Given the description of an element on the screen output the (x, y) to click on. 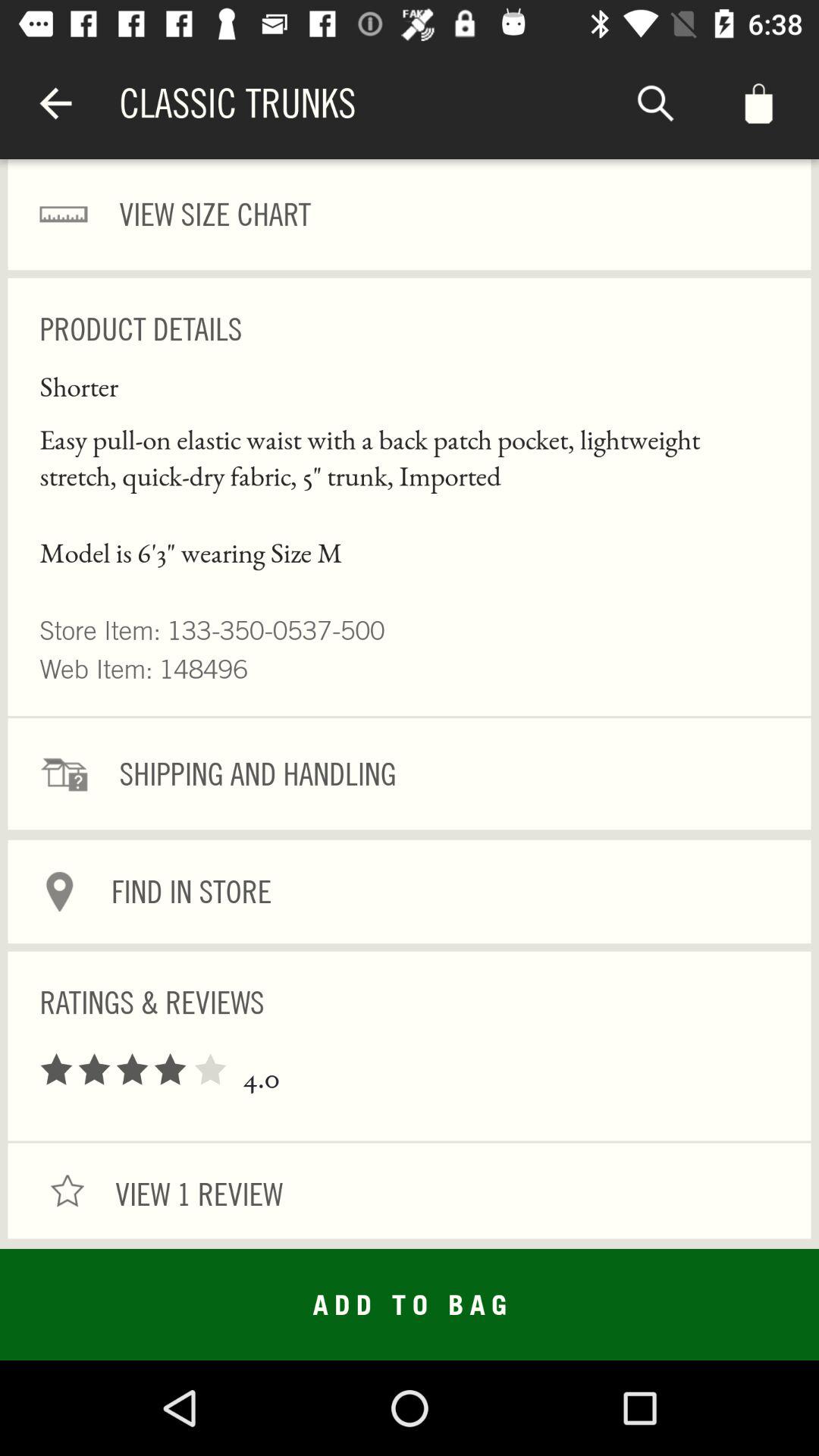
choose the icon next to classic trunks item (655, 103)
